Given the description of an element on the screen output the (x, y) to click on. 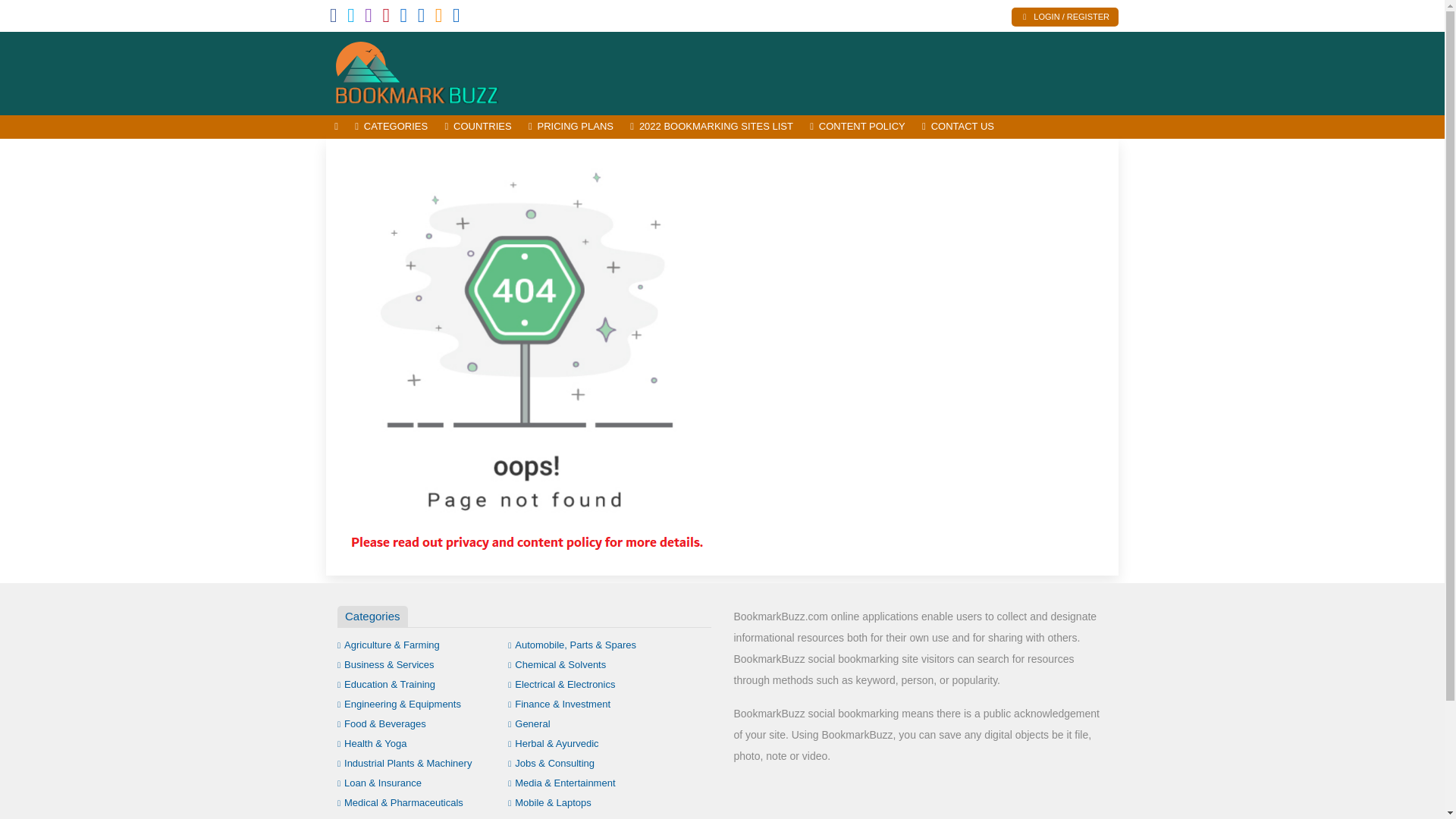
2022 BOOKMARKING SITES LIST (711, 126)
COUNTRIES (477, 126)
CONTACT US (958, 126)
CONTENT POLICY (858, 126)
CATEGORIES (390, 126)
General (529, 723)
PRICING PLANS (570, 126)
